Given the description of an element on the screen output the (x, y) to click on. 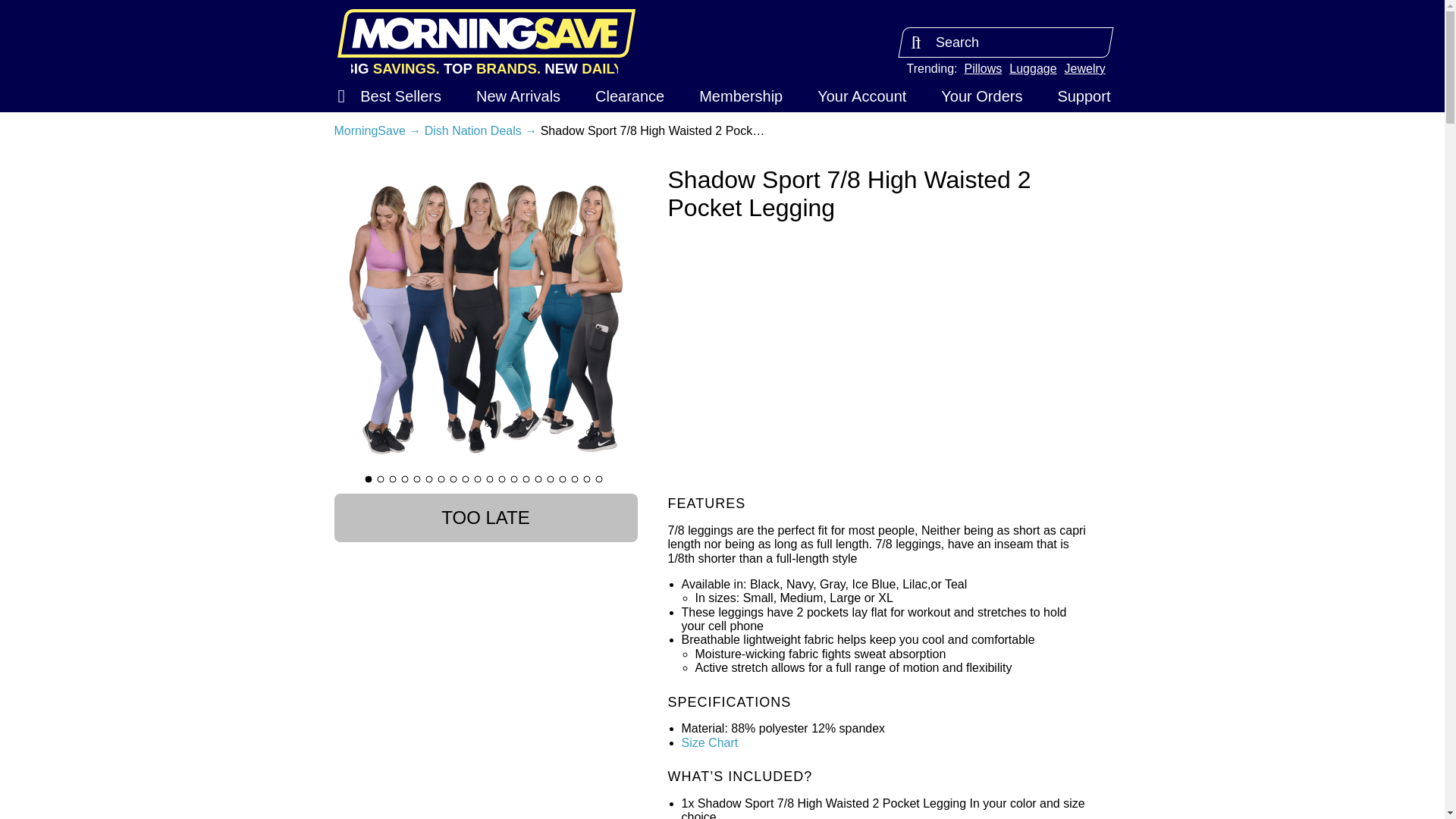
Search term (1005, 41)
Membership (740, 95)
New Arrivals (518, 95)
Search for Luggage (1033, 68)
Floopi Men's Noah Adjustable Vegan Leather Slide Sandal (15, 803)
Clearance (629, 95)
Support (1083, 95)
Best Sellers (400, 95)
Your Orders (981, 95)
Home (485, 33)
